Given the description of an element on the screen output the (x, y) to click on. 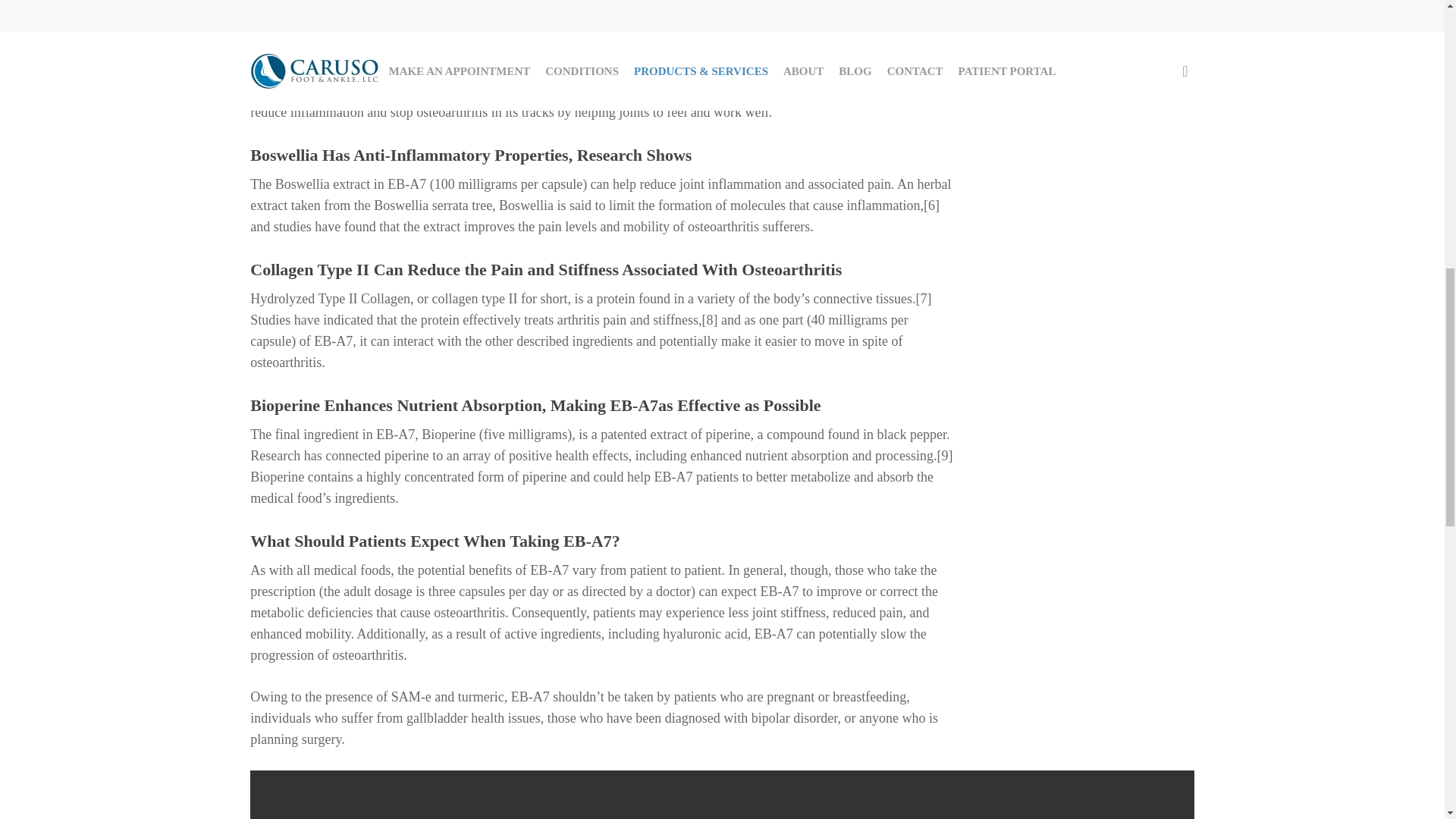
CONTACT US (1083, 7)
